Given the description of an element on the screen output the (x, y) to click on. 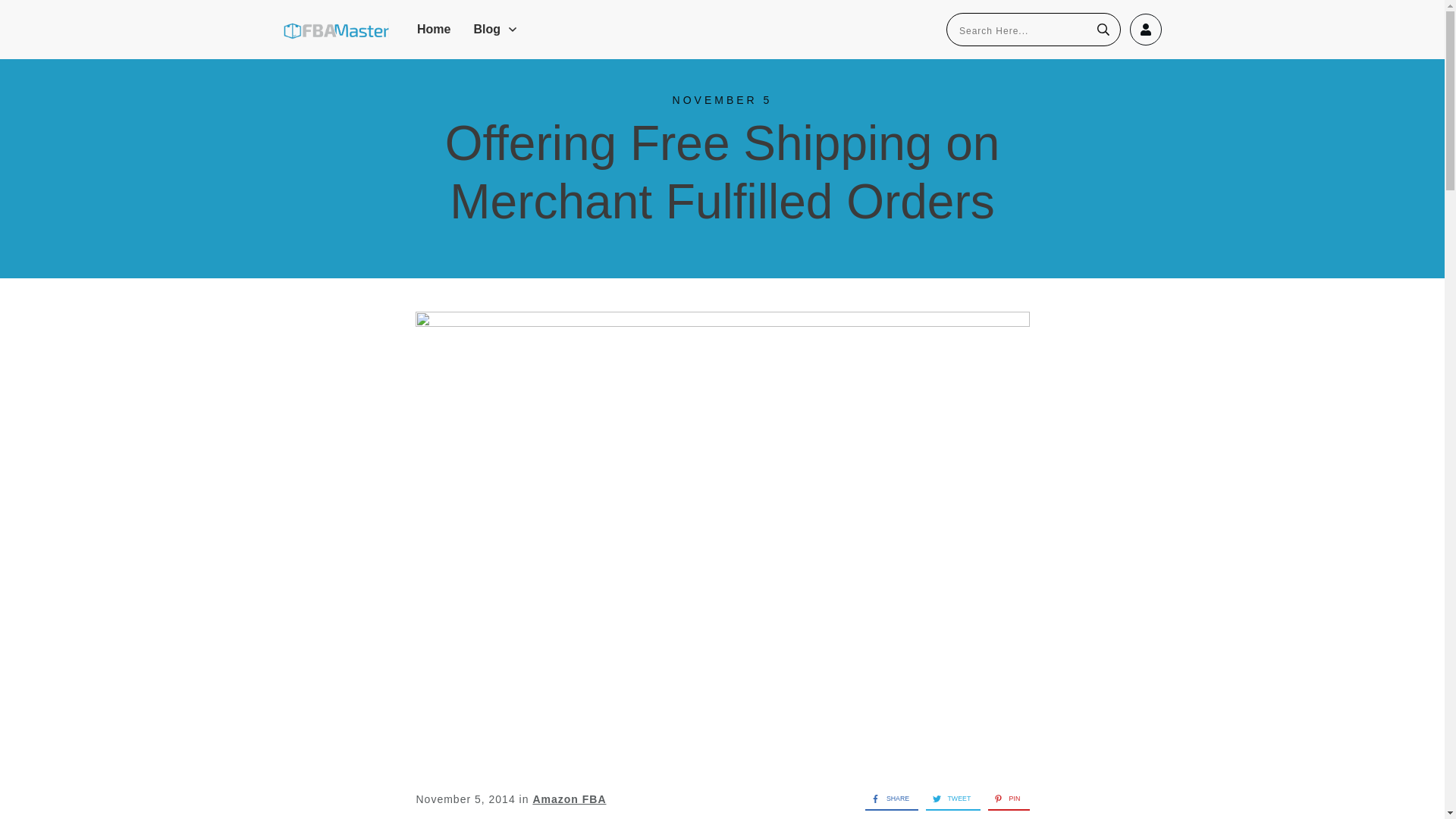
SHARE (886, 798)
PIN (1004, 798)
TWEET (948, 798)
Amazon FBA (568, 799)
Home (432, 29)
Blog (495, 29)
Amazon FBA (568, 799)
